Given the description of an element on the screen output the (x, y) to click on. 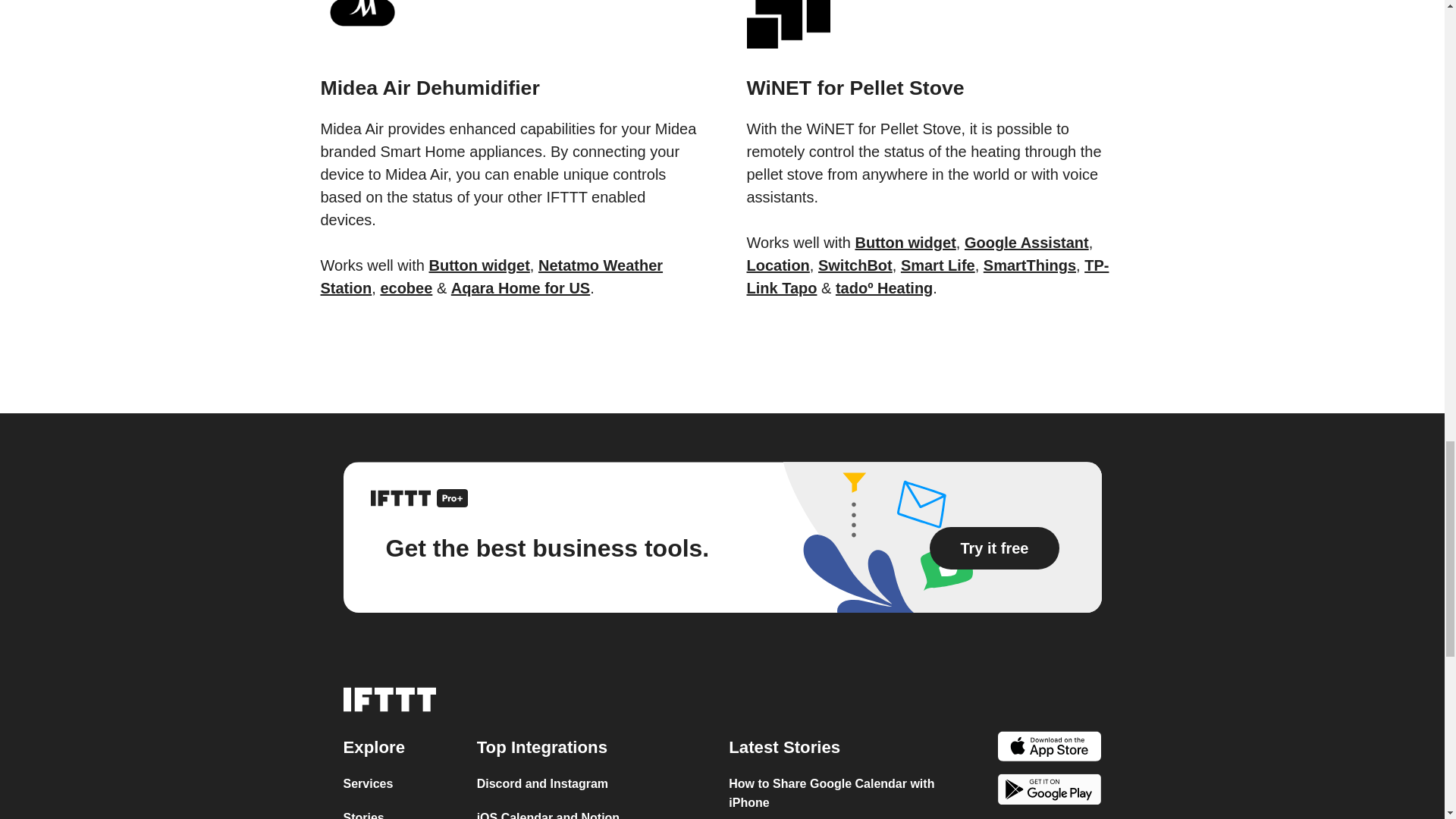
Google Assistant (1026, 242)
Button widget (906, 242)
SmartThings (1029, 265)
WiNET for Pellet Stove (934, 68)
Button widget (479, 265)
SwitchBot (855, 265)
Midea Air Dehumidifier (508, 68)
Location (777, 265)
Aqara Home for US (520, 288)
Netatmo Weather Station (491, 276)
